Given the description of an element on the screen output the (x, y) to click on. 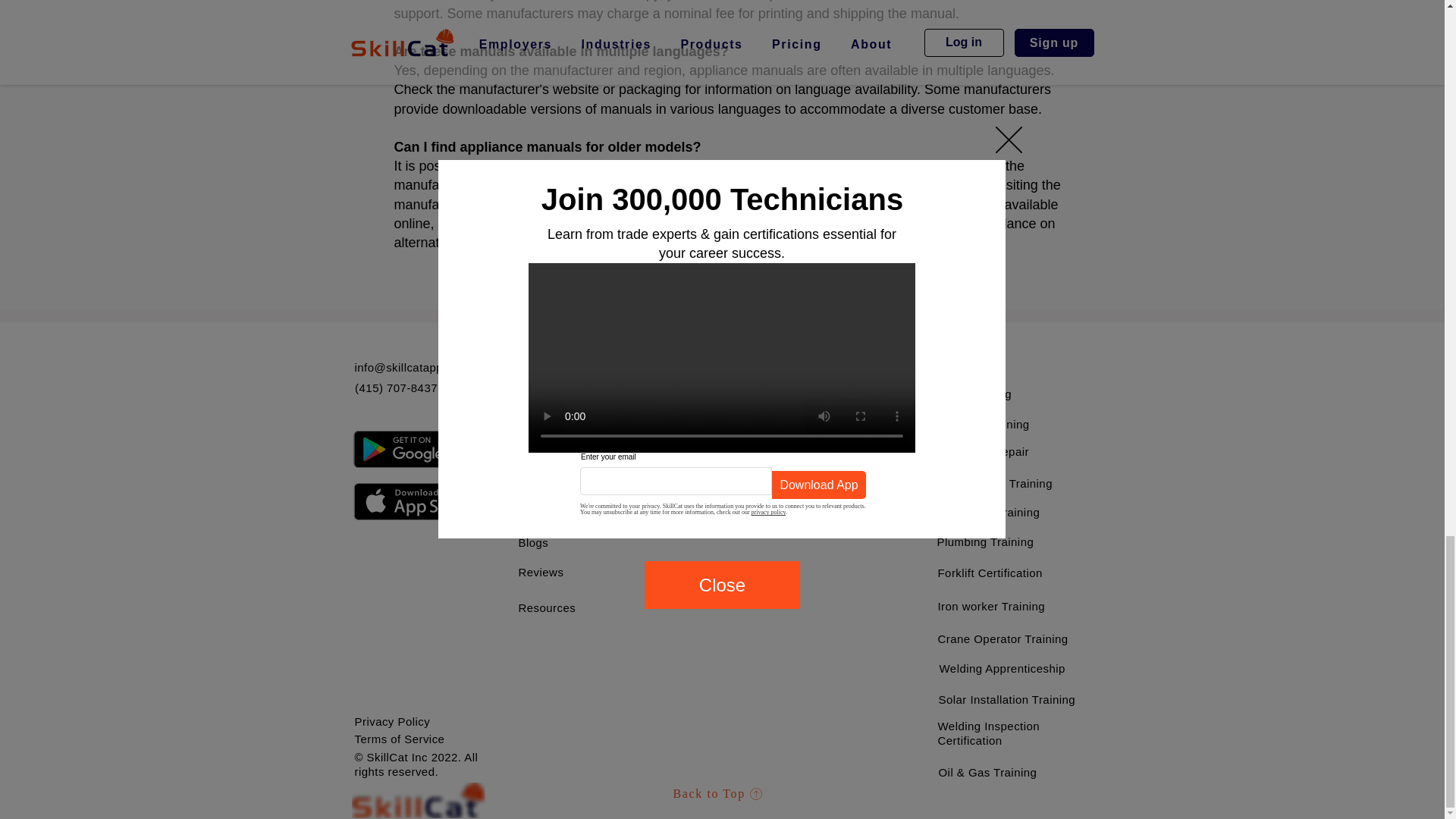
Privacy Policy (392, 721)
Logo-New-Years-2.0.png (418, 800)
Terms of Service (400, 738)
